Given the description of an element on the screen output the (x, y) to click on. 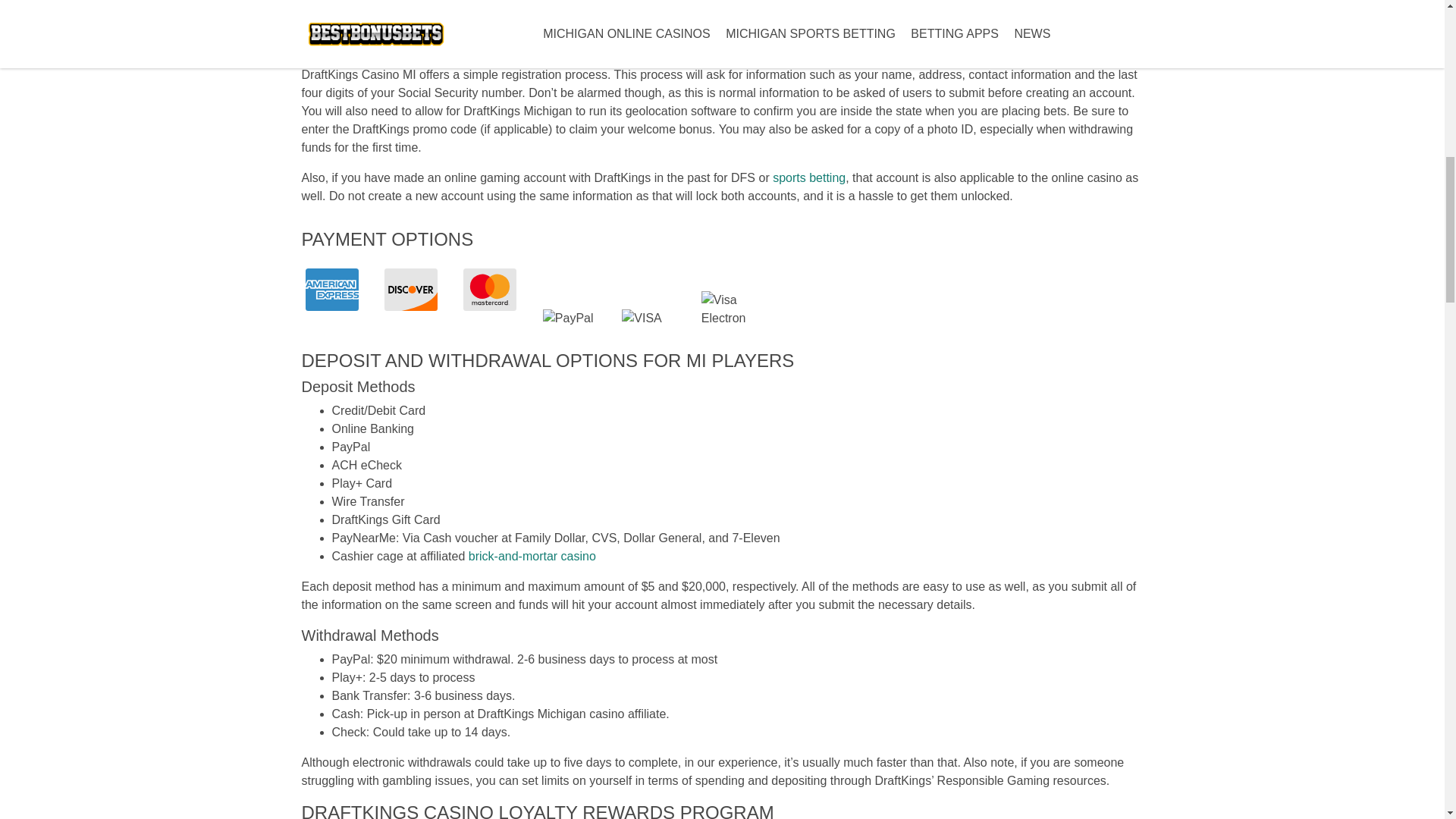
VISA (648, 318)
Discover (411, 289)
PayPal (569, 318)
American Express (331, 289)
MasterCard (489, 289)
Visa Electron (727, 309)
